Given the description of an element on the screen output the (x, y) to click on. 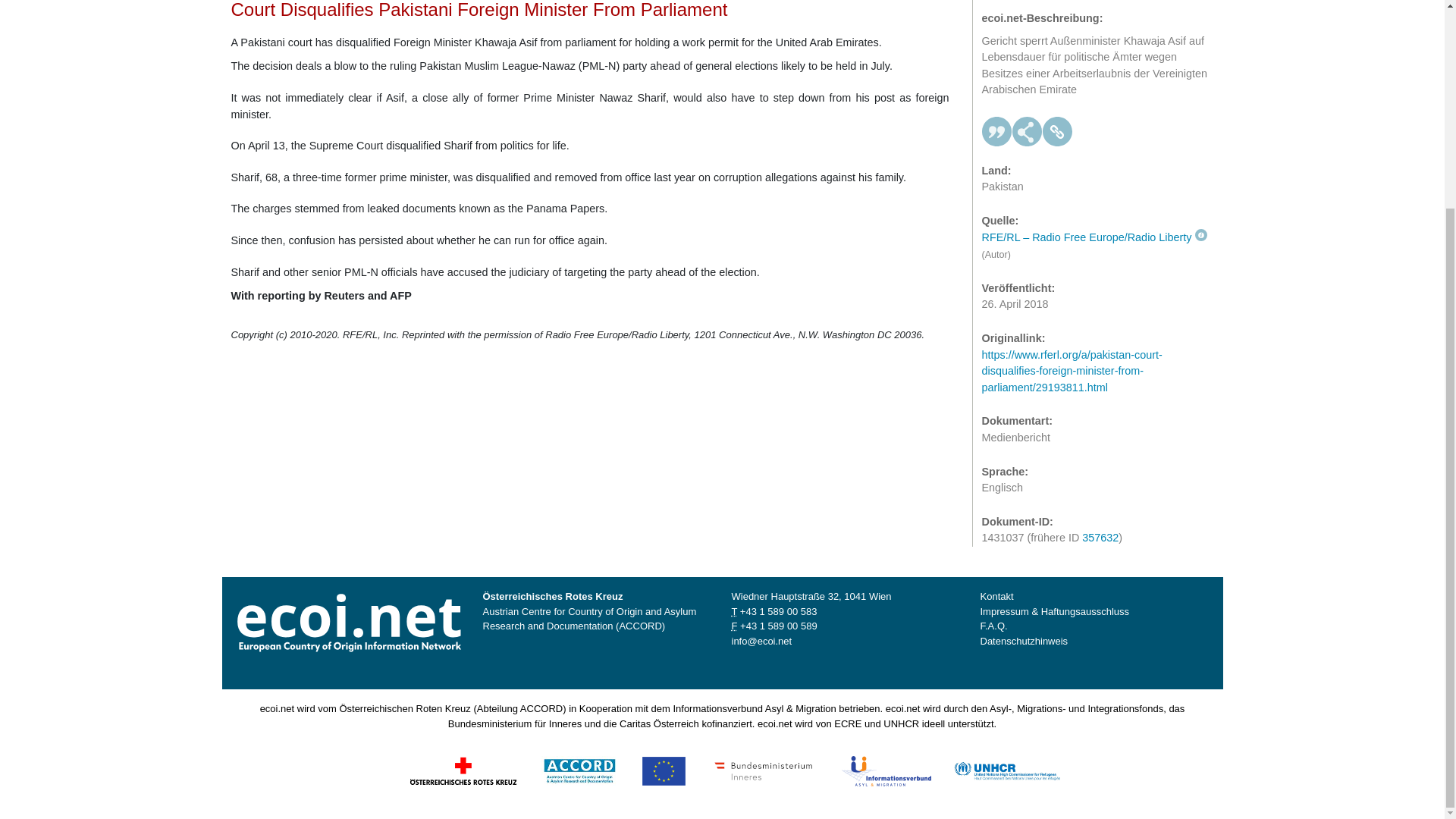
357632 (1099, 525)
Telefon (777, 611)
Datenschutzhinweis (1023, 641)
Permalink (1056, 119)
F.A.Q. (993, 625)
Zitieren als (996, 119)
Fax (777, 625)
Quellenbeschreibung lesen (1094, 224)
UNHCR - The UN Refugee Agency (1006, 769)
Kontakt (996, 595)
Teilen (1026, 119)
